Given the description of an element on the screen output the (x, y) to click on. 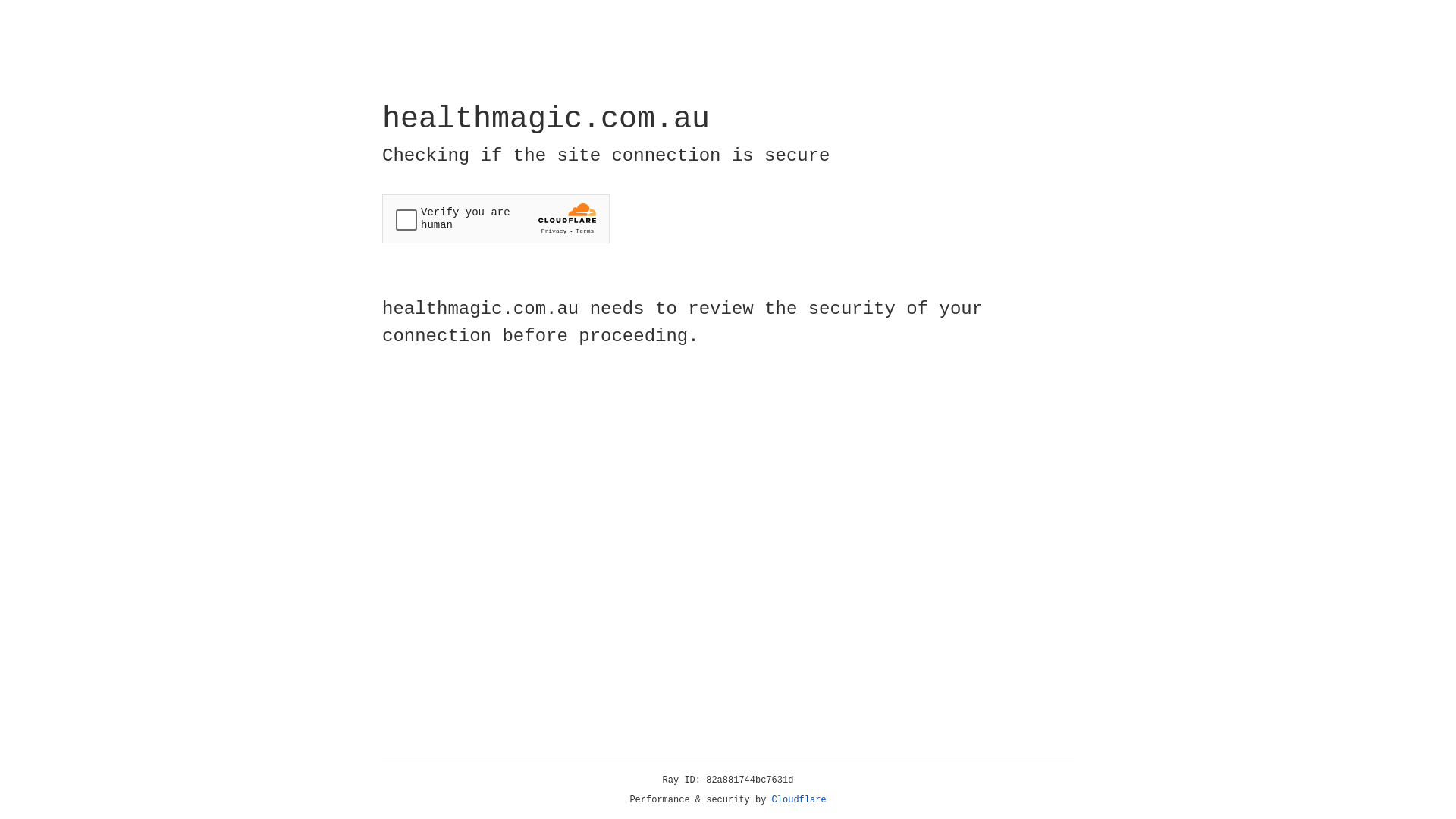
Cloudflare Element type: text (798, 799)
Widget containing a Cloudflare security challenge Element type: hover (495, 218)
